Given the description of an element on the screen output the (x, y) to click on. 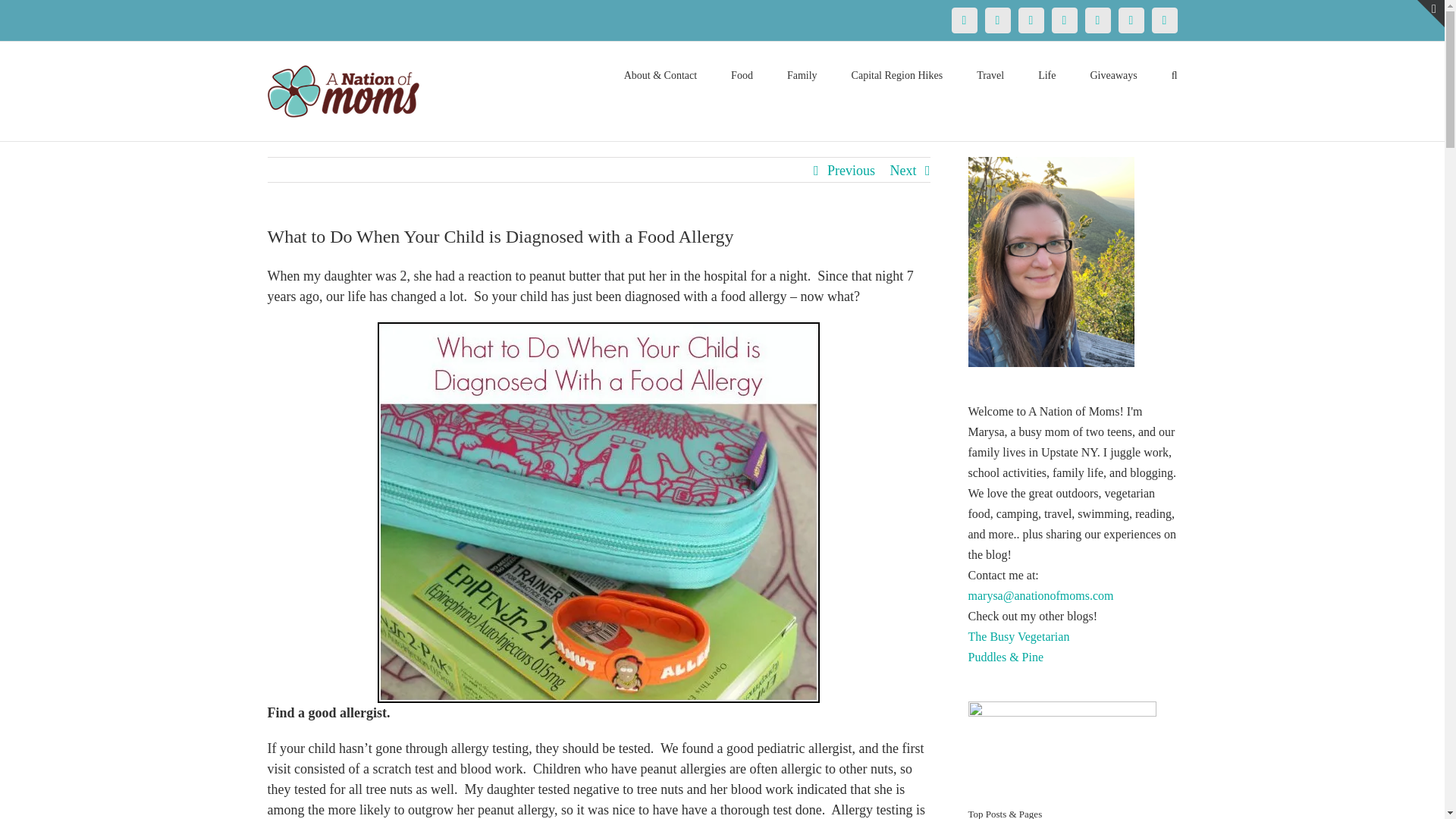
Facebook (963, 20)
Pinterest (1030, 20)
Capital Region Hikes (897, 74)
Facebook (963, 20)
Pinterest (1030, 20)
Twitter (997, 20)
YouTube (1096, 20)
Email (1163, 20)
Instagram (1064, 20)
Instagram (1064, 20)
Email (1163, 20)
Twitter (997, 20)
YouTube (1096, 20)
